Given the description of an element on the screen output the (x, y) to click on. 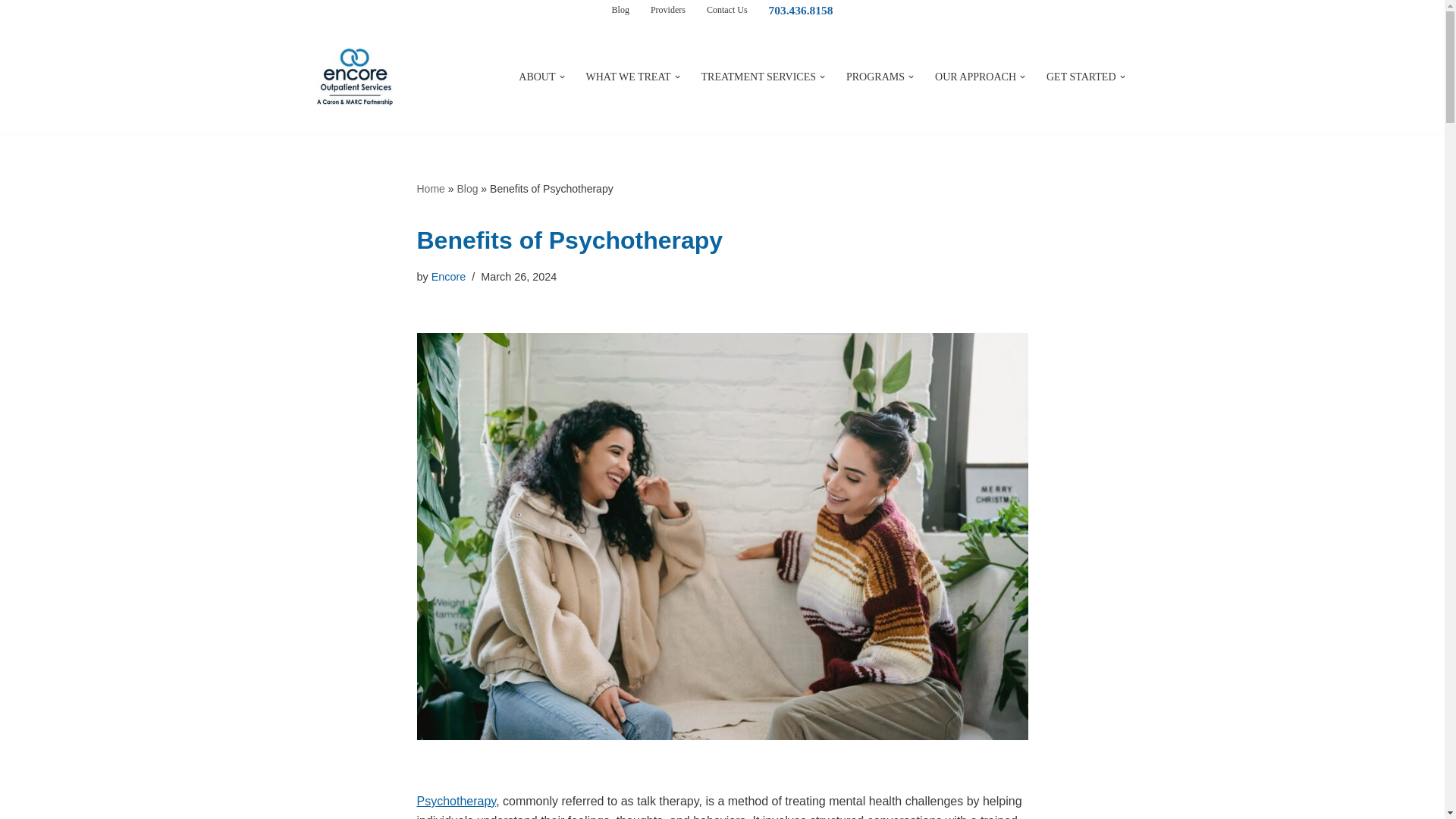
ABOUT (536, 76)
WHAT WE TREAT (628, 76)
Skip to content (11, 31)
PROGRAMS (874, 76)
Contact Us (727, 9)
Providers (667, 9)
Blog (619, 9)
TREATMENT SERVICES (758, 76)
703.436.8158 (800, 9)
OUR APPROACH (975, 76)
Posts by Encore (447, 276)
